Given the description of an element on the screen output the (x, y) to click on. 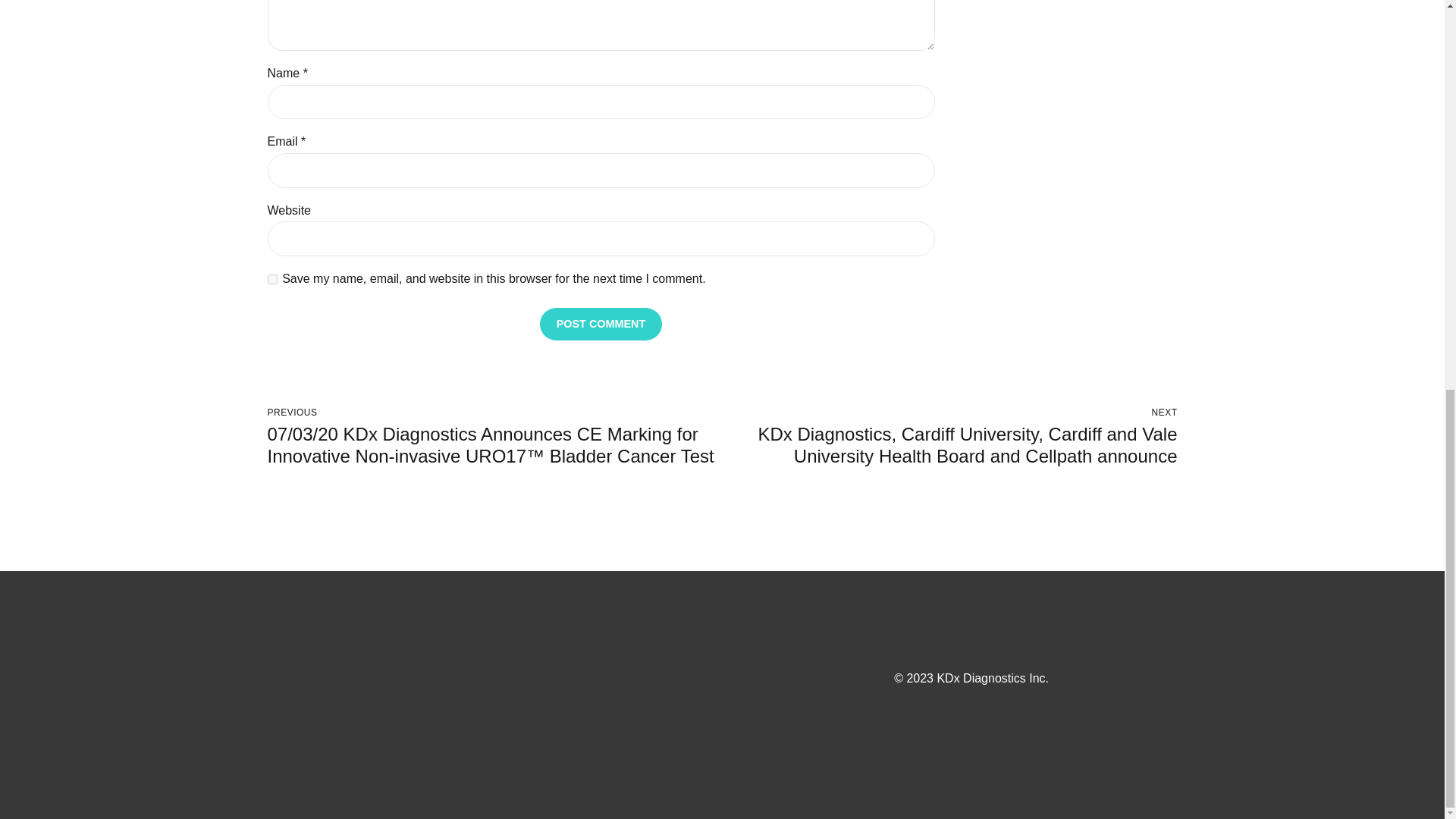
POST COMMENT (601, 323)
yes (271, 279)
